Given the description of an element on the screen output the (x, y) to click on. 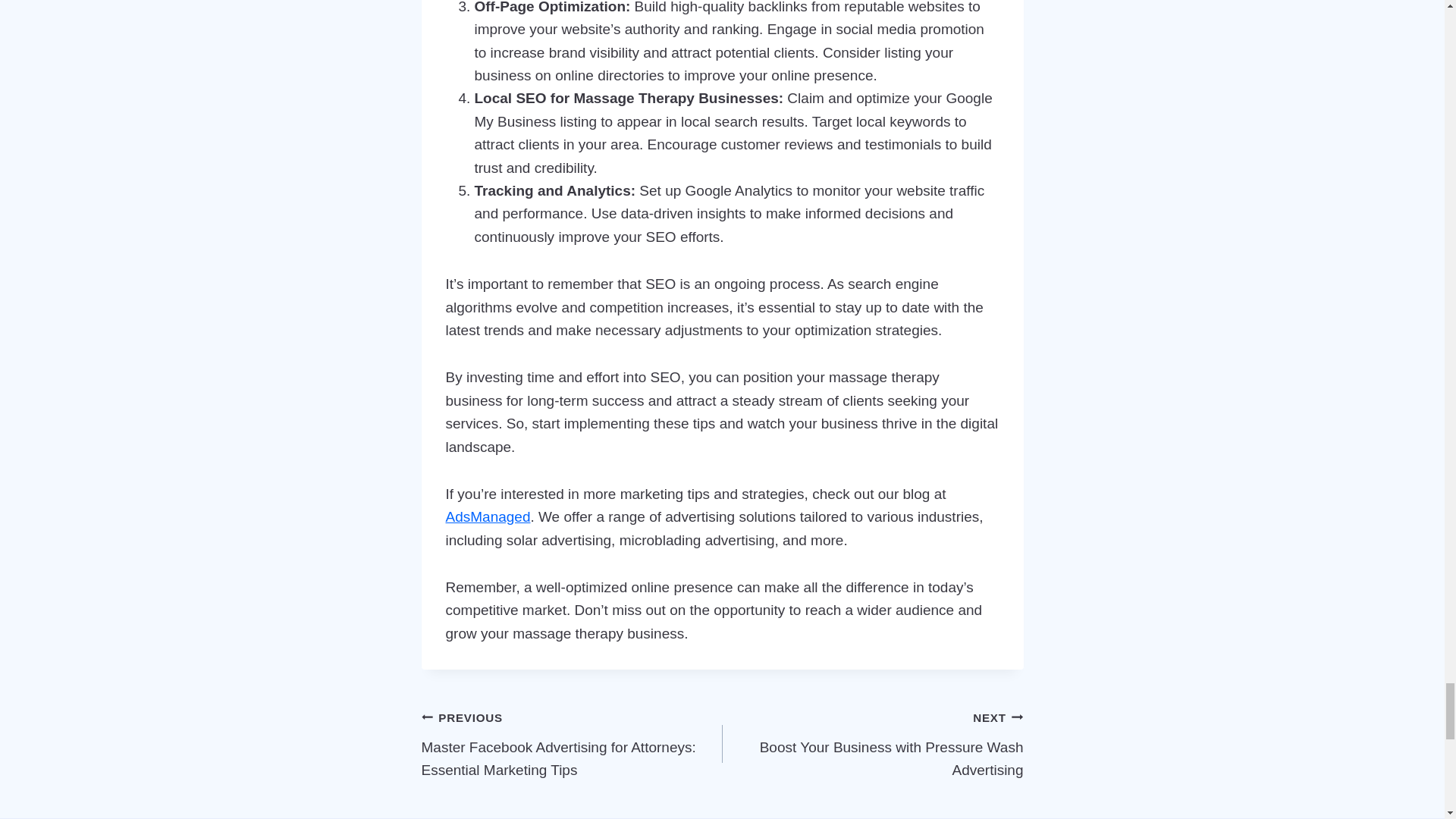
AdsManaged (872, 743)
